Given the description of an element on the screen output the (x, y) to click on. 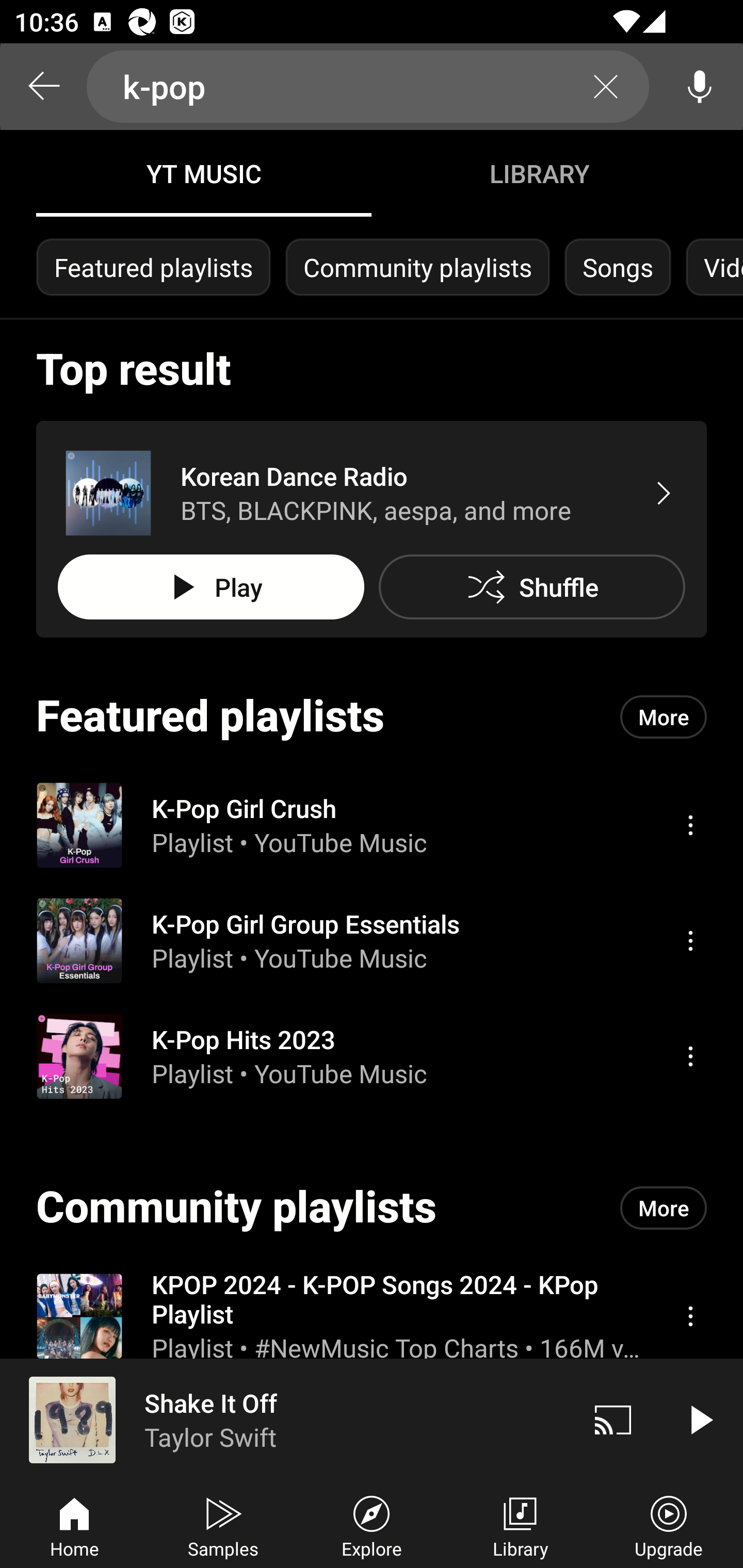
Search back (43, 86)
k-pop (367, 86)
Clear search (605, 86)
Voice search (699, 86)
Library LIBRARY (538, 173)
Play PLAY ALL (210, 587)
Shuffle (531, 587)
Featured playlists More More (371, 716)
More (663, 716)
Menu (690, 824)
Menu (690, 940)
Menu (690, 1056)
Community playlists More More (371, 1208)
More (663, 1207)
Menu (690, 1315)
Shake It Off Taylor Swift (284, 1419)
Cast. Disconnected (612, 1419)
Play video (699, 1419)
Home (74, 1524)
Samples (222, 1524)
Explore (371, 1524)
Library (519, 1524)
Upgrade (668, 1524)
